Given the description of an element on the screen output the (x, y) to click on. 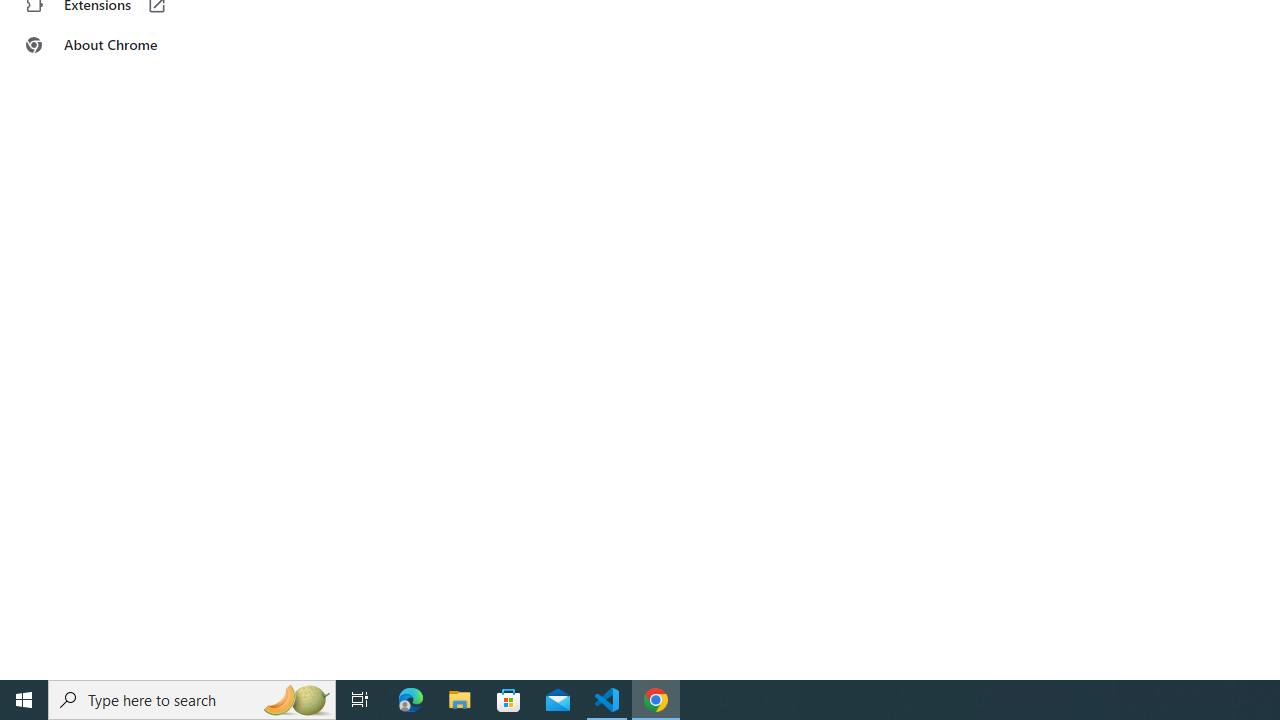
About Chrome (124, 44)
